Given the description of an element on the screen output the (x, y) to click on. 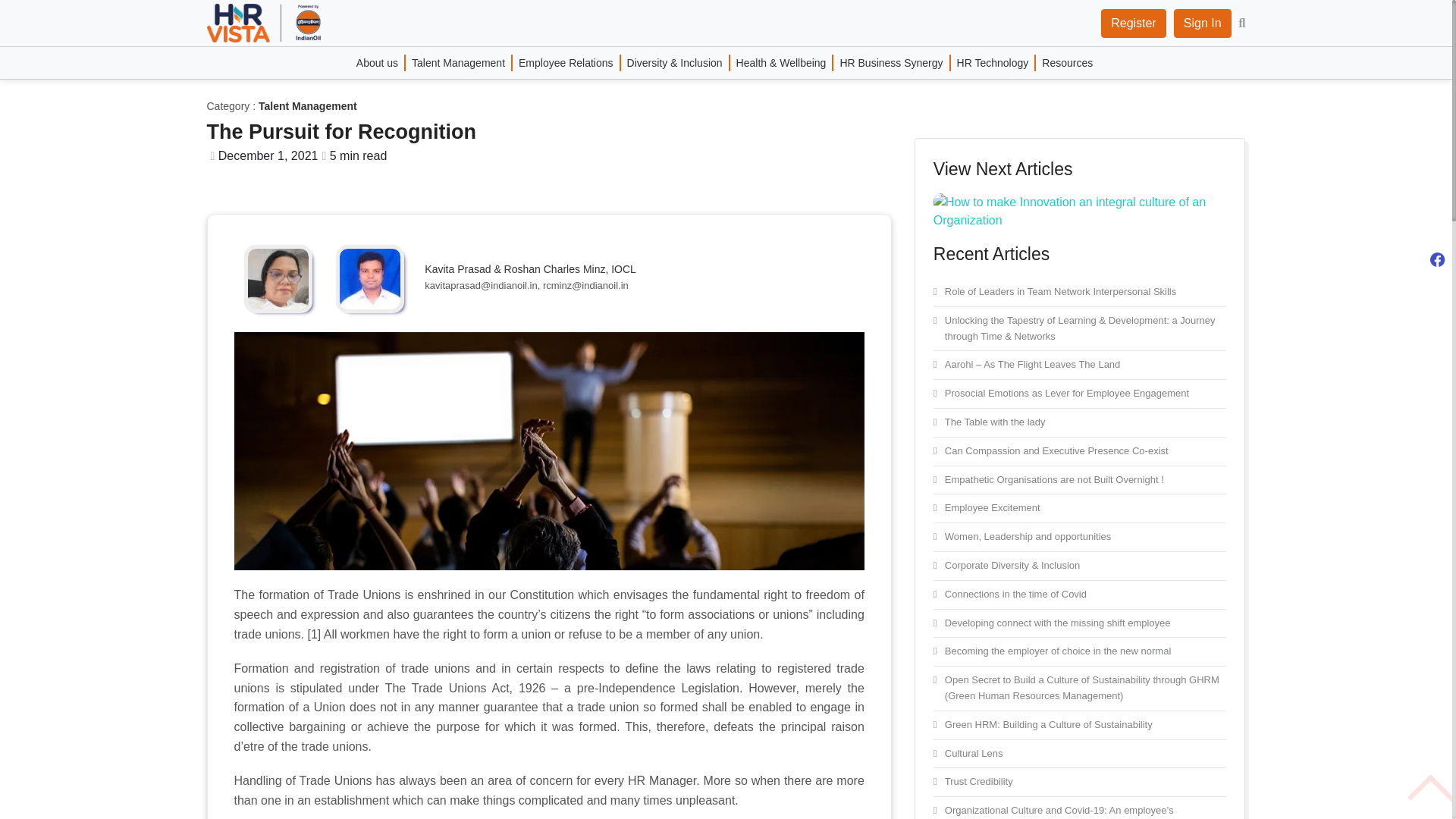
Employee Relations (566, 62)
HR Technology (993, 62)
Prosocial Emotions as Lever for Employee Engagement (1080, 394)
Talent Management (459, 62)
Role of Leaders in Team Network Interpersonal Skills (1080, 292)
Register (1133, 23)
HR Business Synergy (891, 62)
Talent Management (307, 105)
About us (381, 62)
Resources (1067, 62)
Sign In (1202, 23)
